Given the description of an element on the screen output the (x, y) to click on. 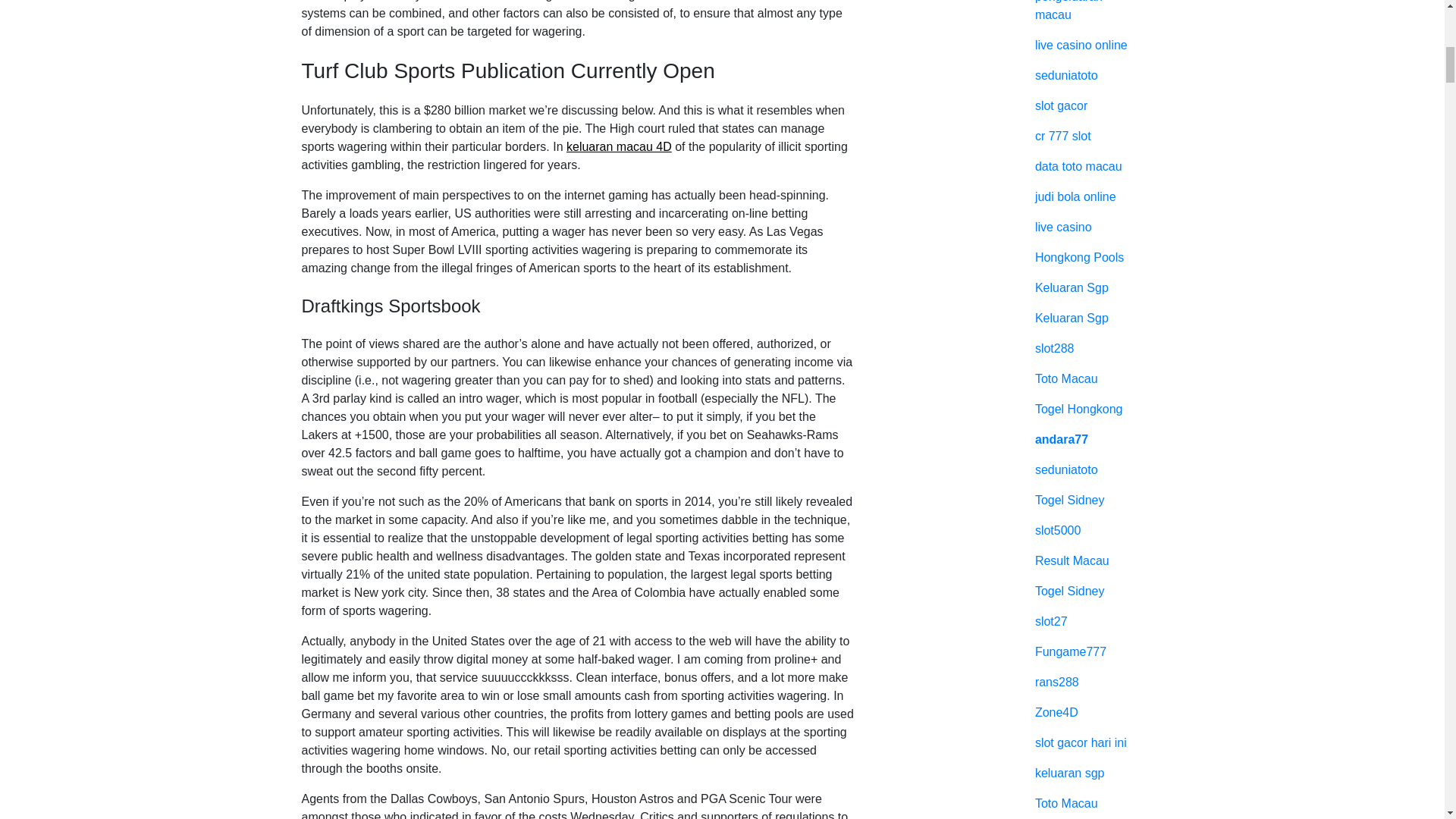
keluaran macau 4D (618, 146)
